Given the description of an element on the screen output the (x, y) to click on. 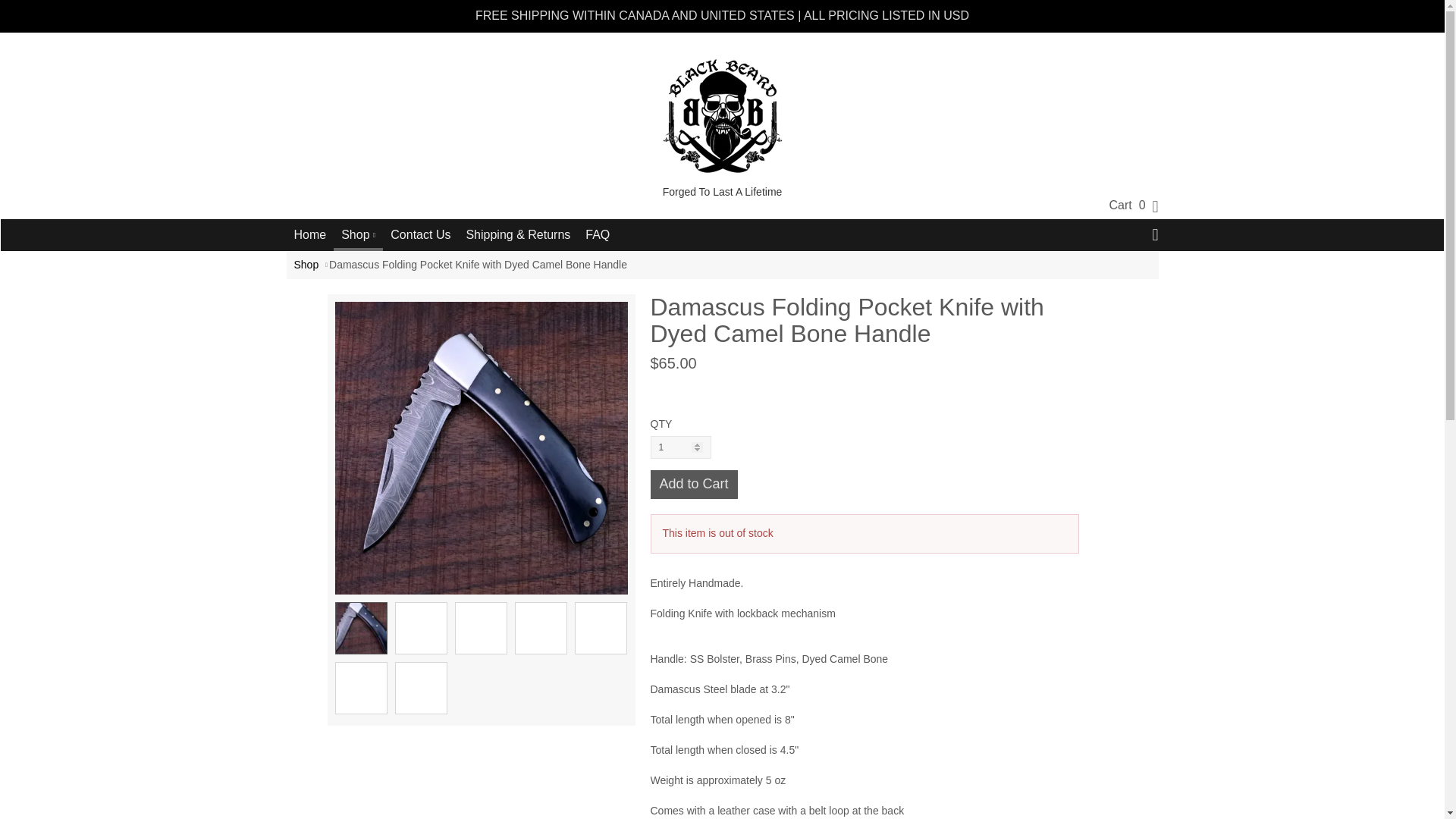
Add to Cart (694, 484)
Shop (357, 233)
Contact Us (420, 234)
Shop (306, 264)
Home (310, 234)
Add to Cart (694, 484)
FAQ (597, 234)
1 (680, 446)
Cart  0   (1126, 205)
